Given the description of an element on the screen output the (x, y) to click on. 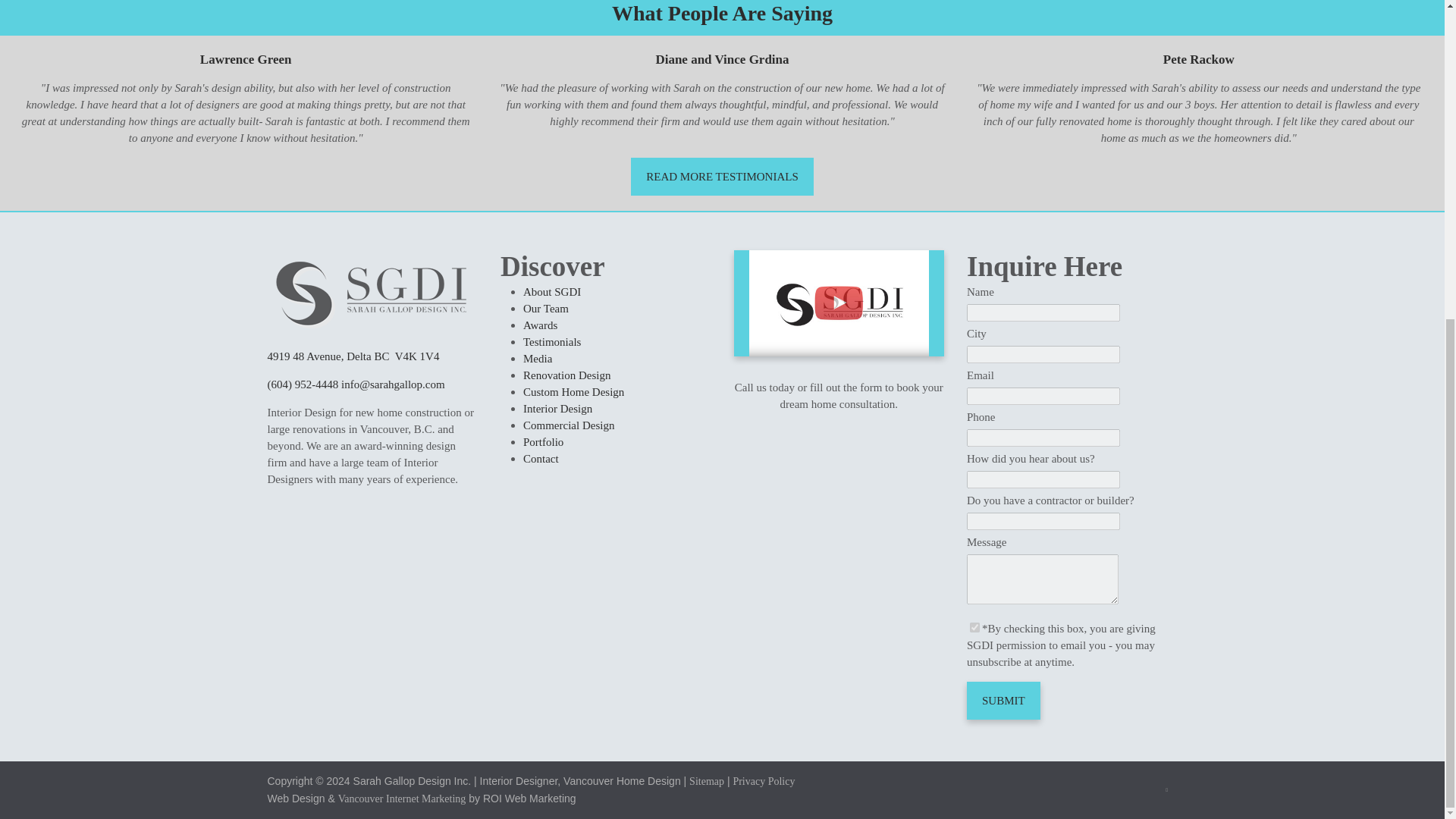
1 (974, 627)
Submit (1003, 700)
About SGDI (551, 291)
Our Team (545, 308)
4919 48 Avenue, Delta BC  V4K 1V4 (352, 356)
READ MORE TESTIMONIALS (721, 176)
